Given the description of an element on the screen output the (x, y) to click on. 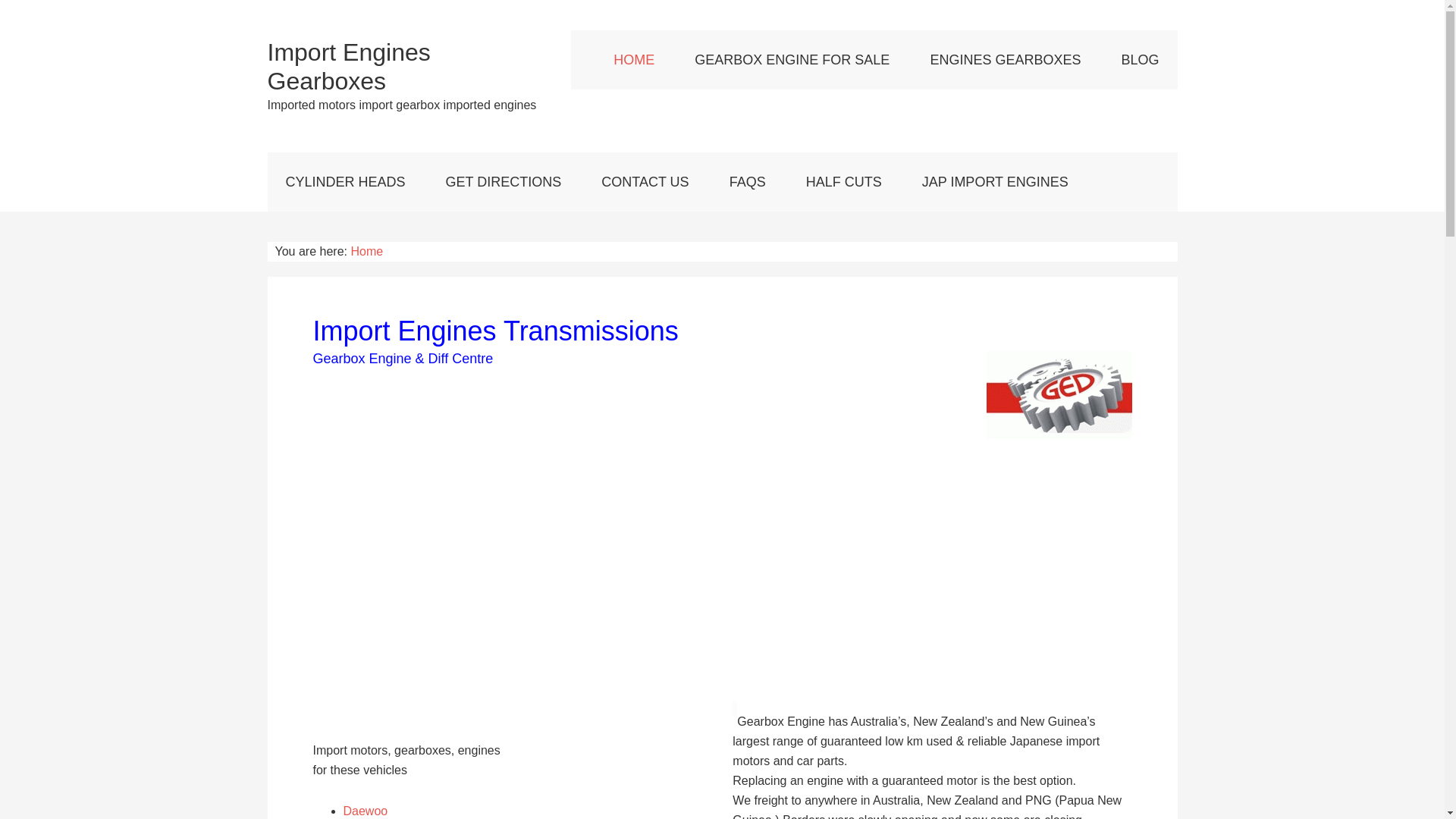
JAP IMPORT ENGINES Element type: text (994, 181)
CYLINDER HEADS Element type: text (344, 181)
Advertisement Element type: hover (721, 563)
Import Engines Gearboxes Element type: text (347, 66)
HALF CUTS Element type: text (843, 181)
BLOG Element type: text (1139, 59)
Home Element type: text (366, 250)
GEARBOX ENGINE FOR SALE Element type: text (791, 59)
ENGINES GEARBOXES Element type: text (1004, 59)
GET DIRECTIONS Element type: text (503, 181)
CONTACT US Element type: text (644, 181)
HOME Element type: text (633, 59)
FAQS Element type: text (747, 181)
Daewoo Element type: text (364, 810)
